Given the description of an element on the screen output the (x, y) to click on. 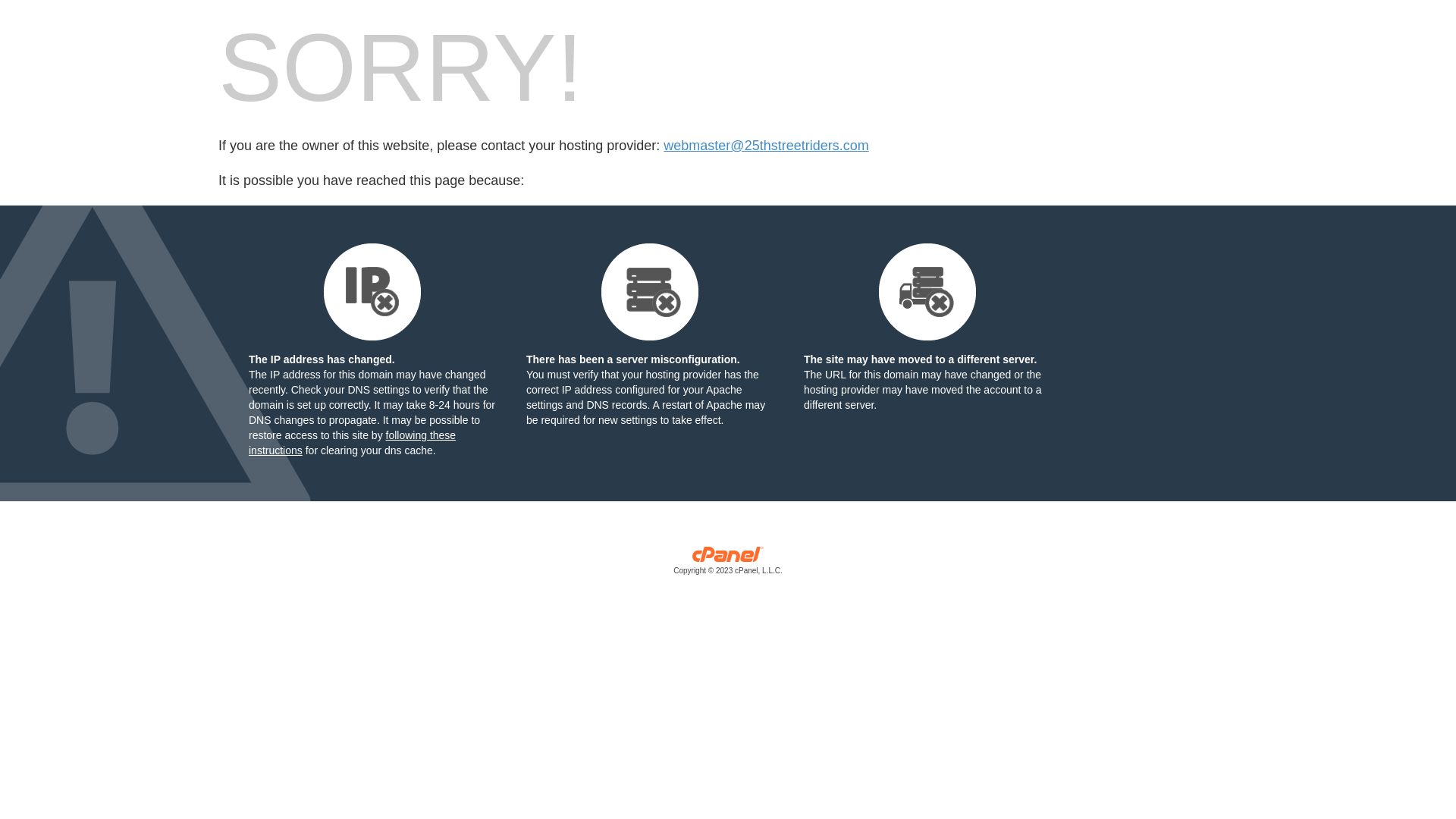
following these instructions Element type: text (351, 442)
webmaster@25thstreetriders.com Element type: text (765, 145)
